Given the description of an element on the screen output the (x, y) to click on. 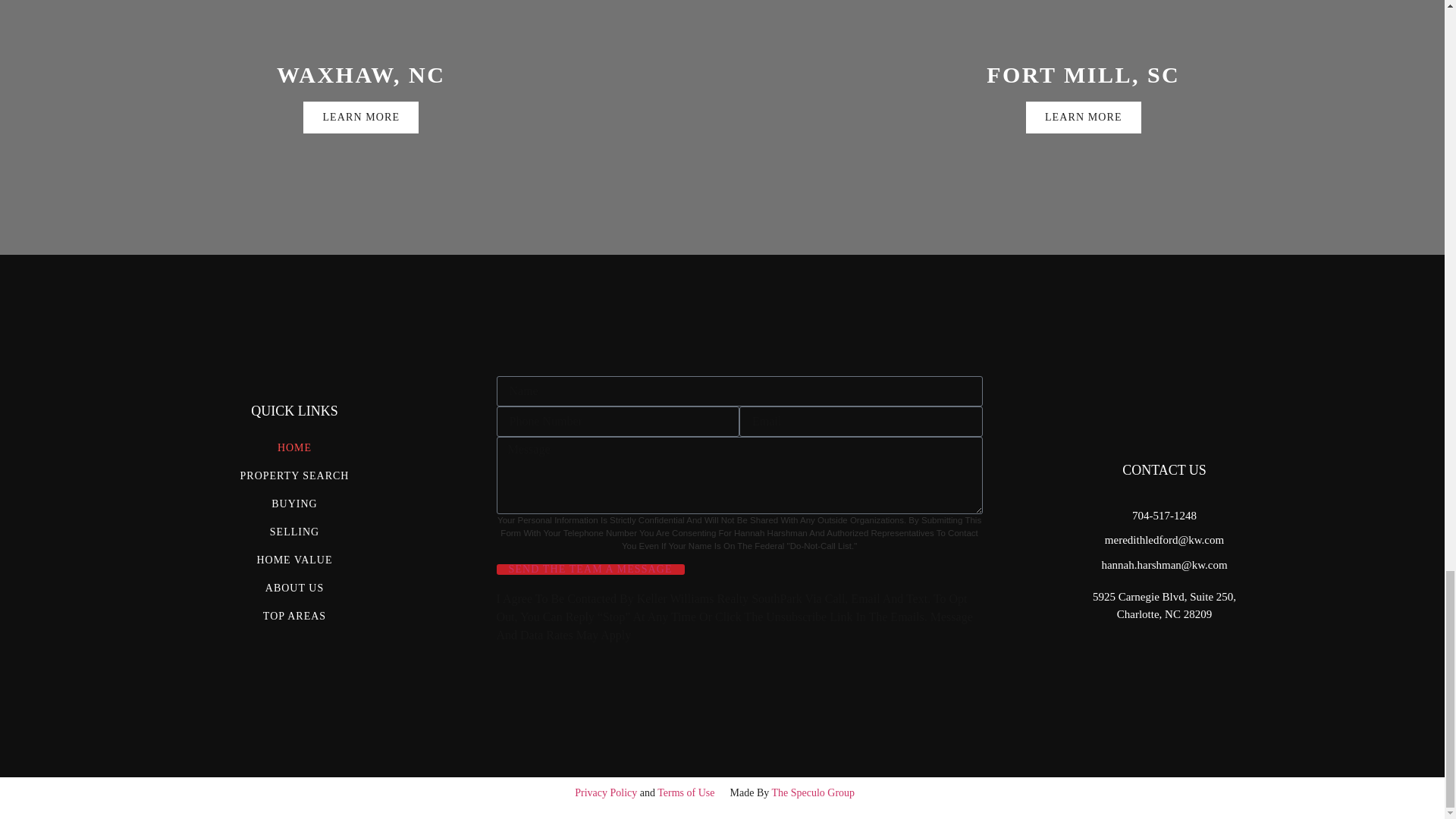
HOME (295, 447)
LEARN MORE (1083, 117)
HOME VALUE (295, 560)
TOP AREAS (295, 615)
LEARN MORE (360, 117)
PROPERTY SEARCH (295, 475)
BUYING (295, 503)
ABOUT US (295, 587)
SELLING (295, 531)
